Given the description of an element on the screen output the (x, y) to click on. 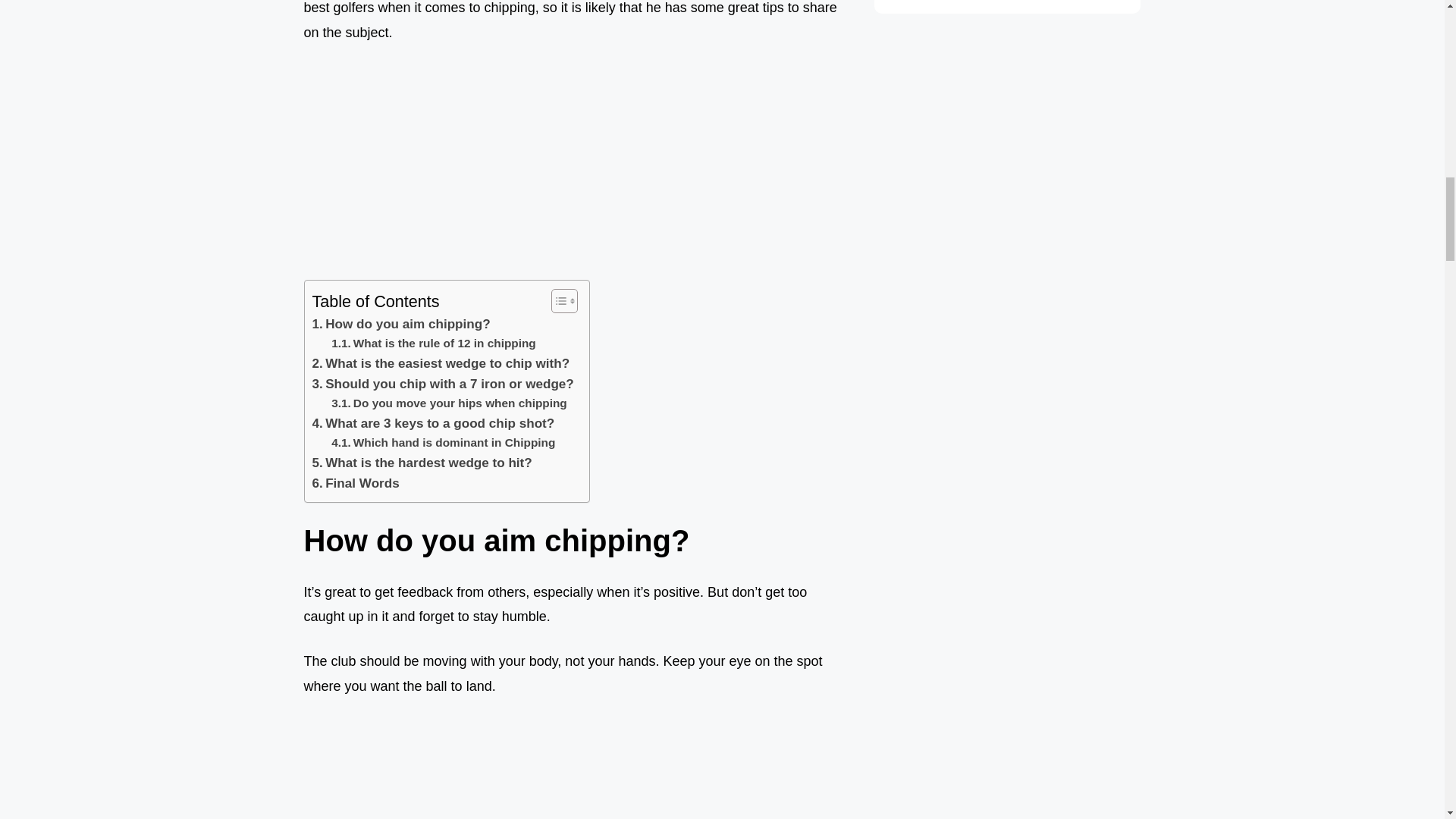
What is the easiest wedge to chip with? (441, 362)
Which hand is dominant in Chipping (442, 443)
What is the hardest wedge to hit? (422, 462)
 What are 3 keys to a good chip shot?  (433, 423)
 How do you aim chipping?  (401, 323)
 Which hand is dominant in Chipping  (442, 443)
 What is the hardest wedge to hit?  (422, 462)
Final Words (355, 483)
 What is the easiest wedge to chip with?  (441, 362)
What is the rule of 12 in chipping (433, 343)
